Given the description of an element on the screen output the (x, y) to click on. 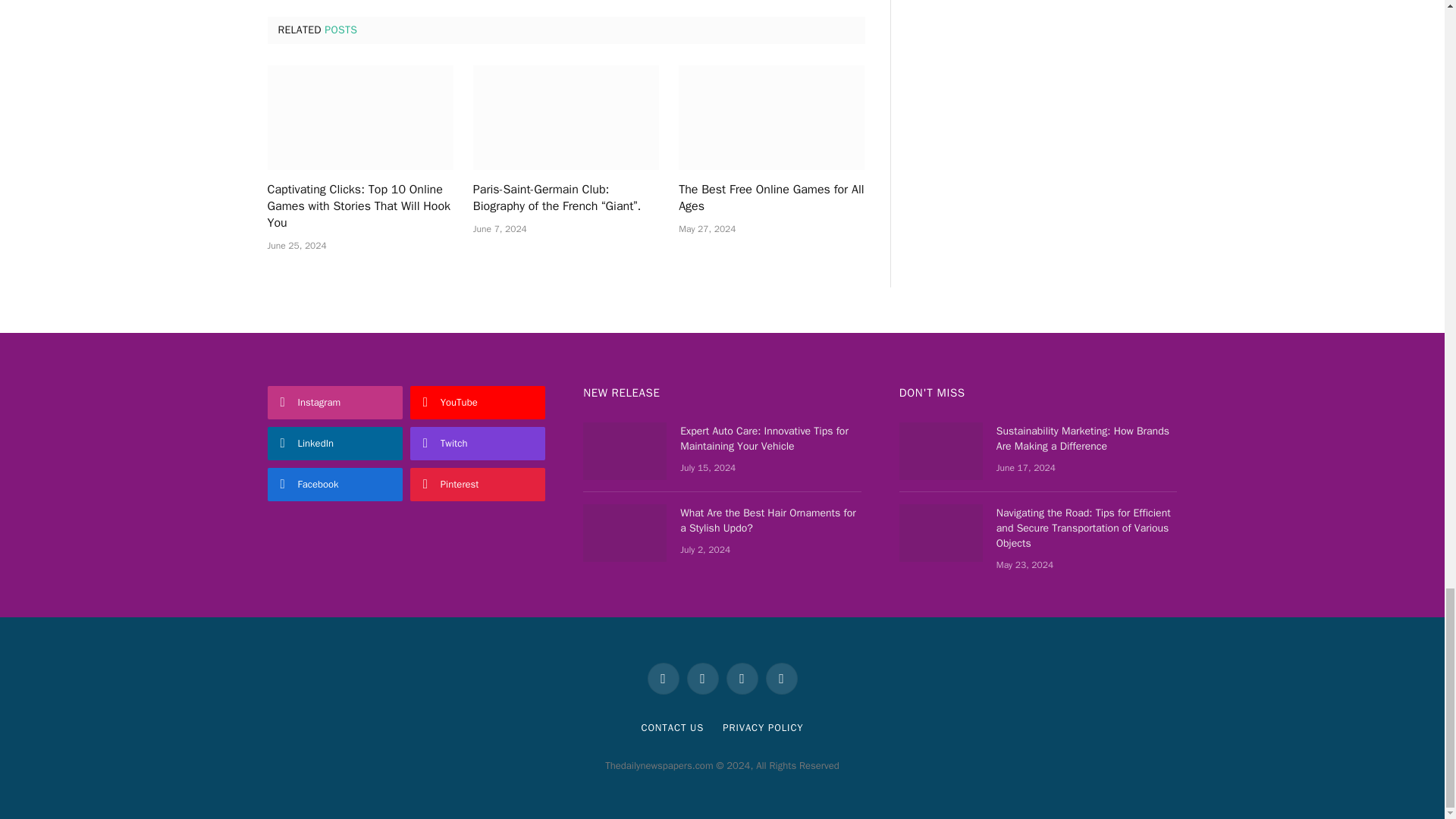
The Best Free Online Games for All Ages (771, 198)
The Best Free Online Games for All Ages (771, 117)
